Given the description of an element on the screen output the (x, y) to click on. 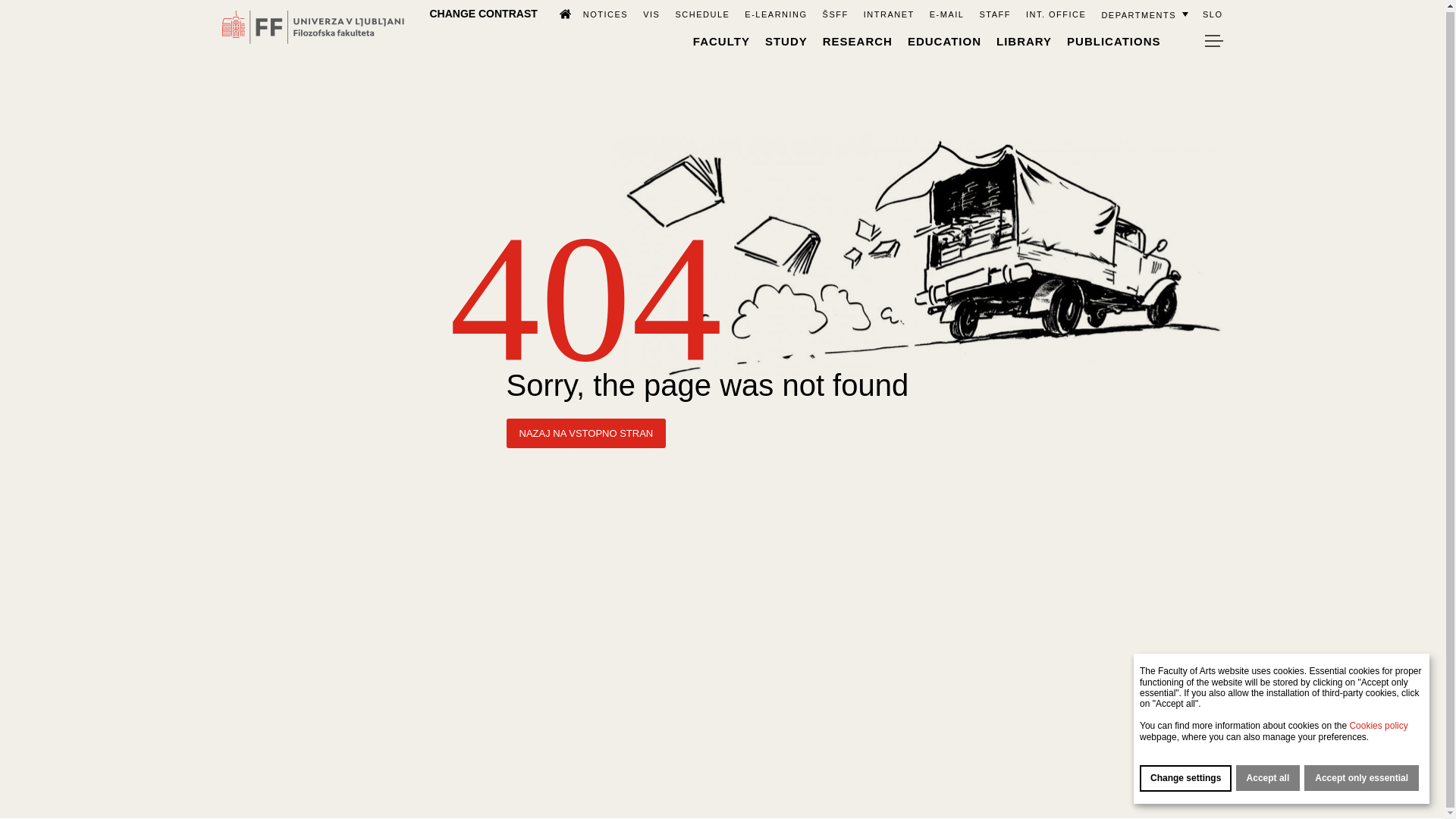
E-MAIL (946, 13)
SCHEDULE (702, 13)
International Office (1056, 13)
STAFF (994, 13)
HOME (558, 12)
Zaposleni (994, 13)
RESEARCH (857, 40)
INTRANET (888, 13)
Urnik (702, 13)
CHANGE CONTRAST (483, 12)
STUDY (786, 40)
DEPARTMENTS (1144, 13)
Home (558, 12)
SLO (1212, 13)
